Given the description of an element on the screen output the (x, y) to click on. 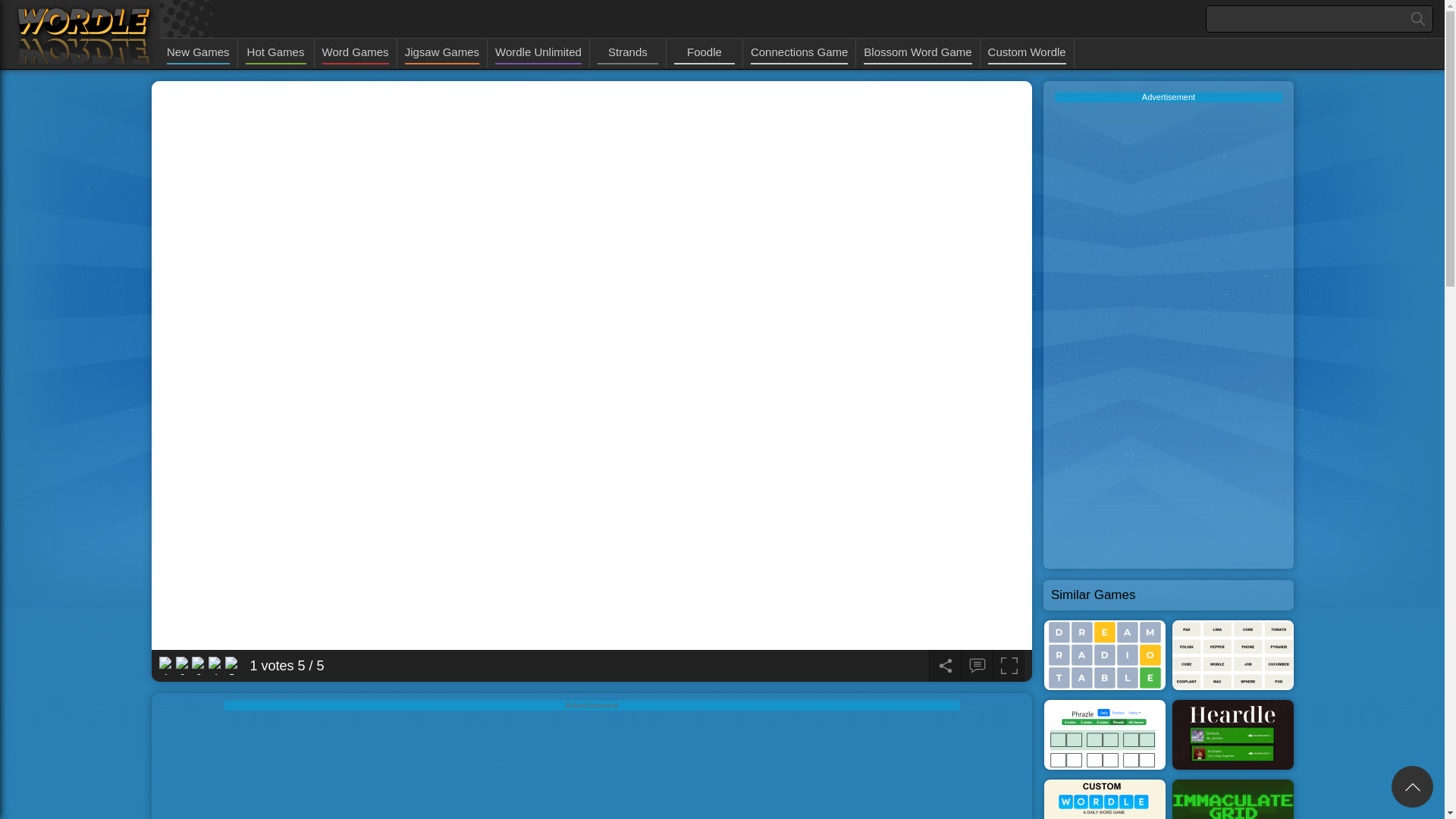
Wordle Unlimited (537, 52)
Connections Game (799, 52)
Strands (627, 52)
Advertisement (591, 764)
New Games (198, 52)
Foodle (704, 52)
Word Games (354, 52)
Hot Games (275, 52)
Custom Wordle (1026, 52)
Wordle Website (83, 35)
Blossom Word Game (917, 52)
Jigsaw Games (441, 52)
